Given the description of an element on the screen output the (x, y) to click on. 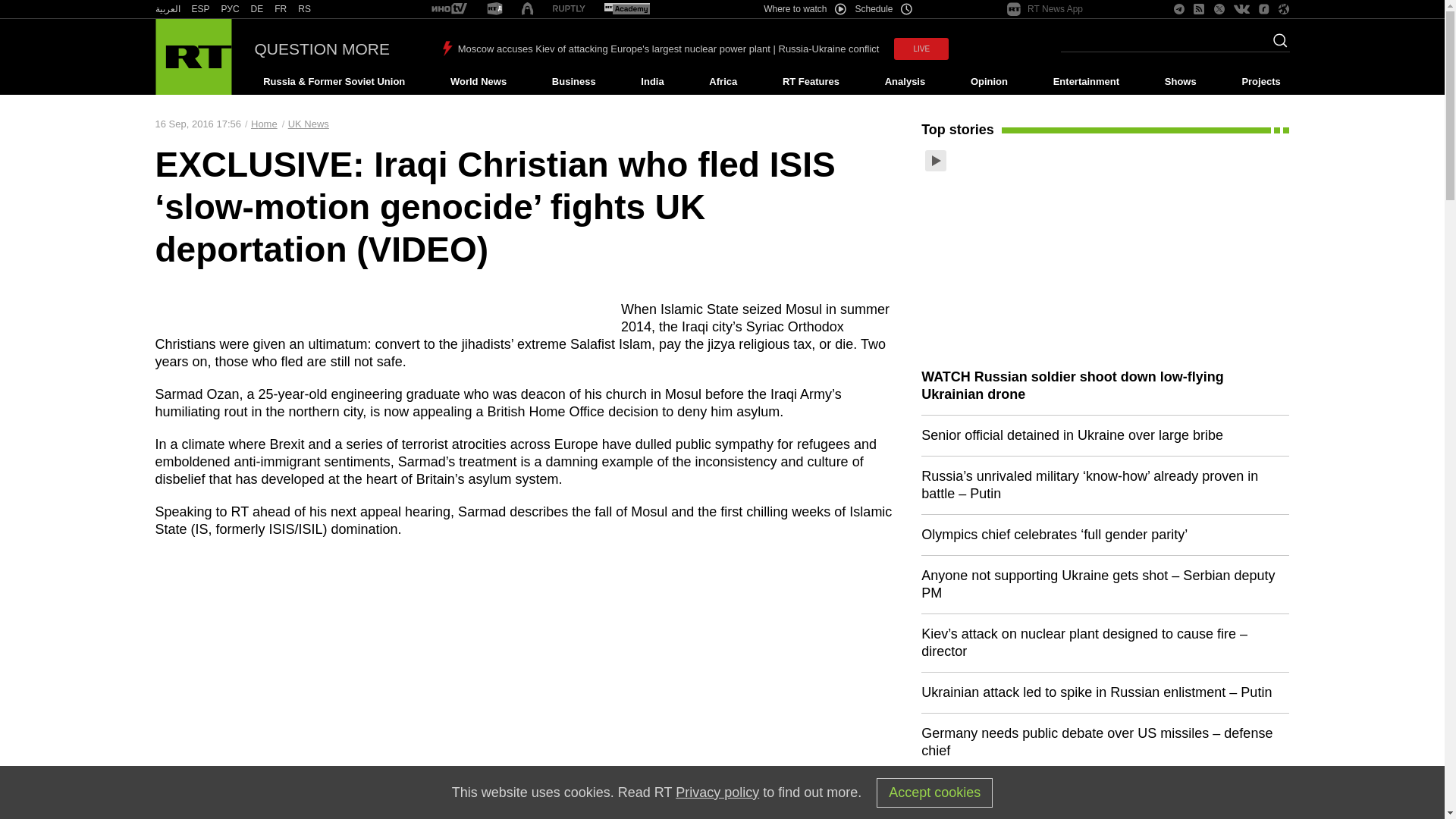
Schedule (884, 9)
Entertainment (1085, 81)
Analysis (905, 81)
RS (304, 9)
RT Features (810, 81)
RT  (626, 9)
Search (1276, 44)
QUESTION MORE (322, 48)
RT  (199, 9)
Projects (1261, 81)
